Given the description of an element on the screen output the (x, y) to click on. 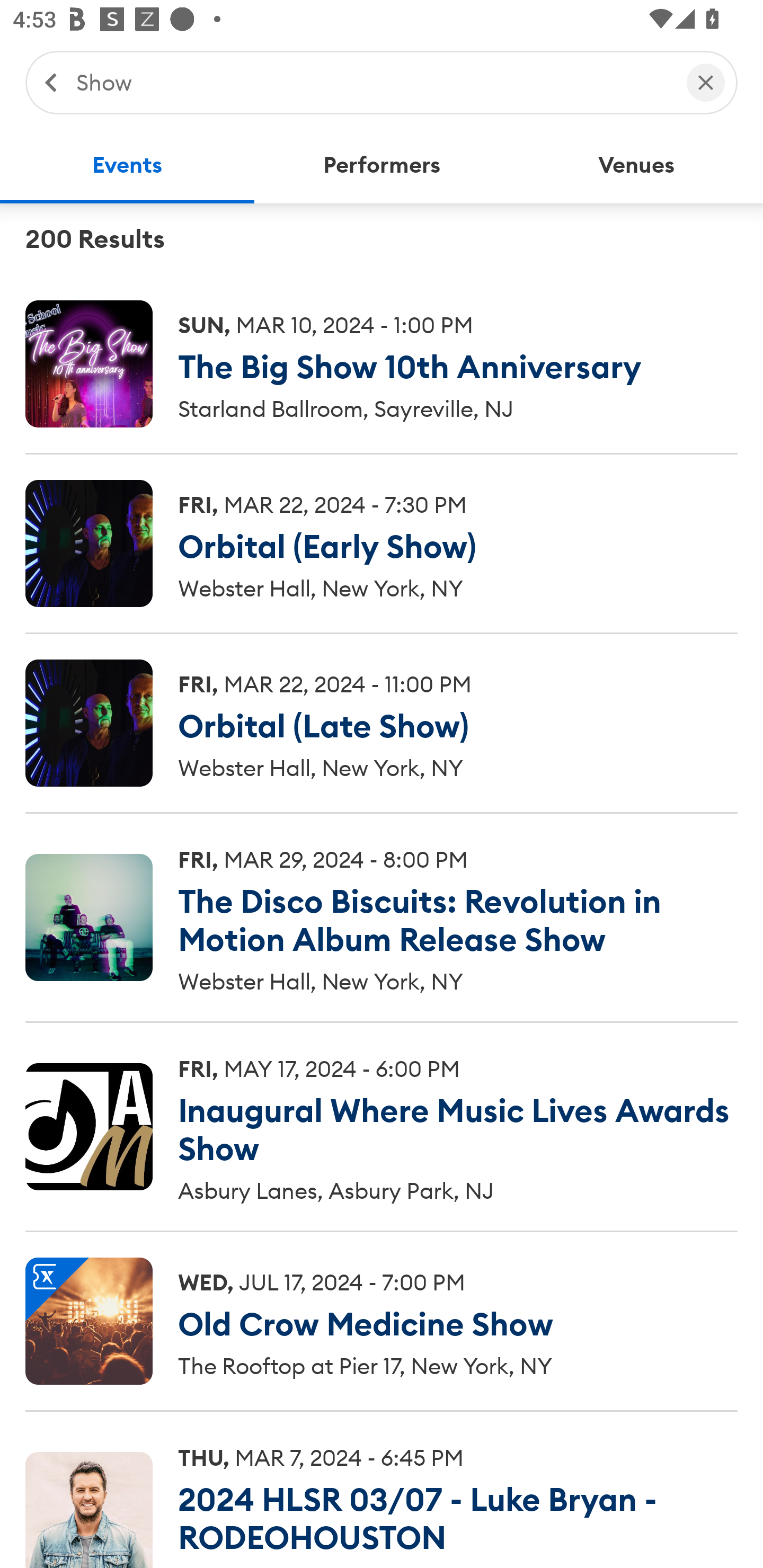
Show (371, 81)
Clear Search (705, 81)
Performers (381, 165)
Venues (635, 165)
